Given the description of an element on the screen output the (x, y) to click on. 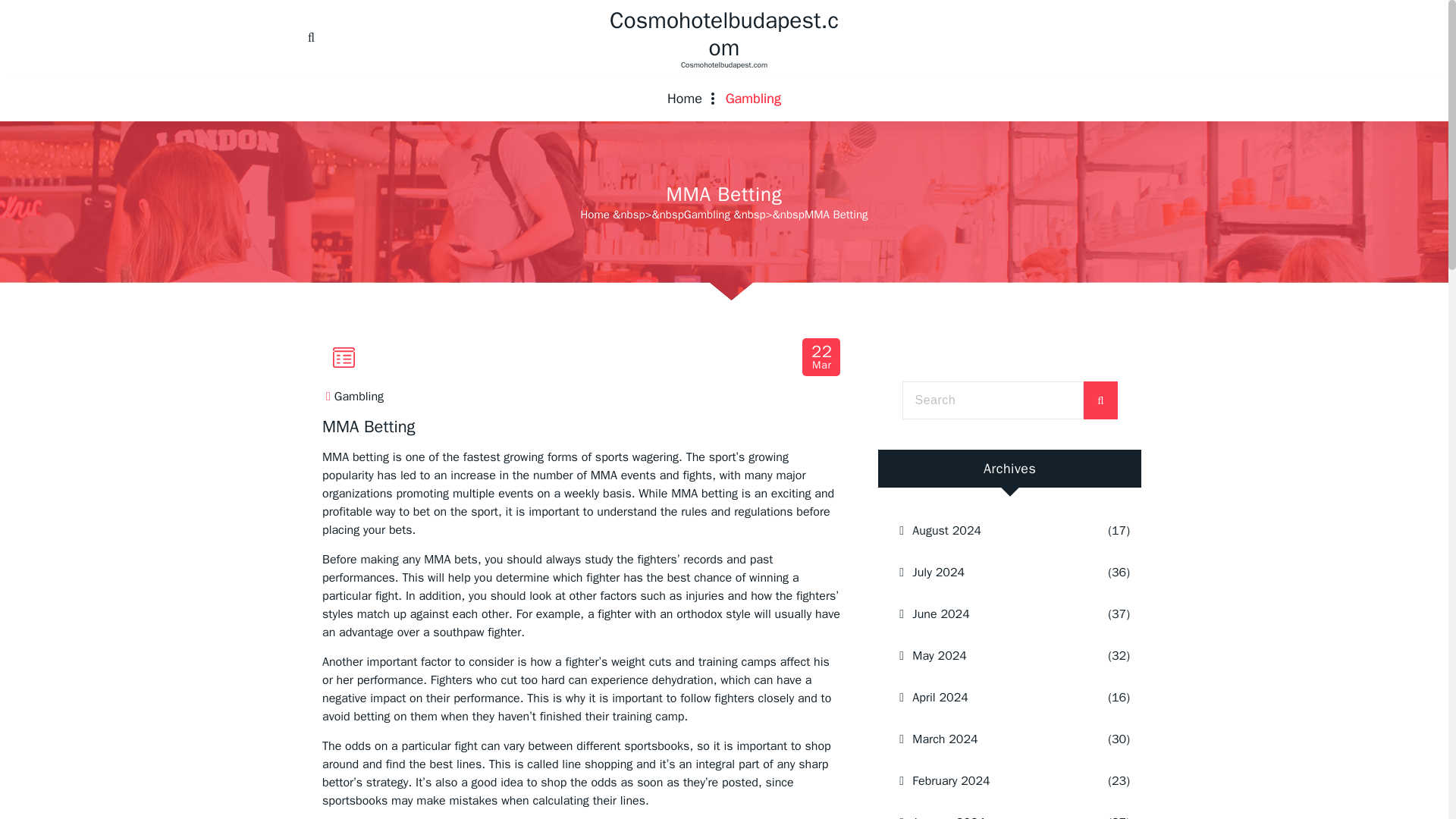
April 2024 (990, 697)
May 2024 (990, 655)
July 2024 (990, 572)
August 2024 (990, 530)
March 2024 (990, 739)
Home (684, 98)
February 2024 (990, 780)
January 2024 (990, 810)
Gambling (359, 396)
Cosmohotelbudapest.com (724, 33)
